Given the description of an element on the screen output the (x, y) to click on. 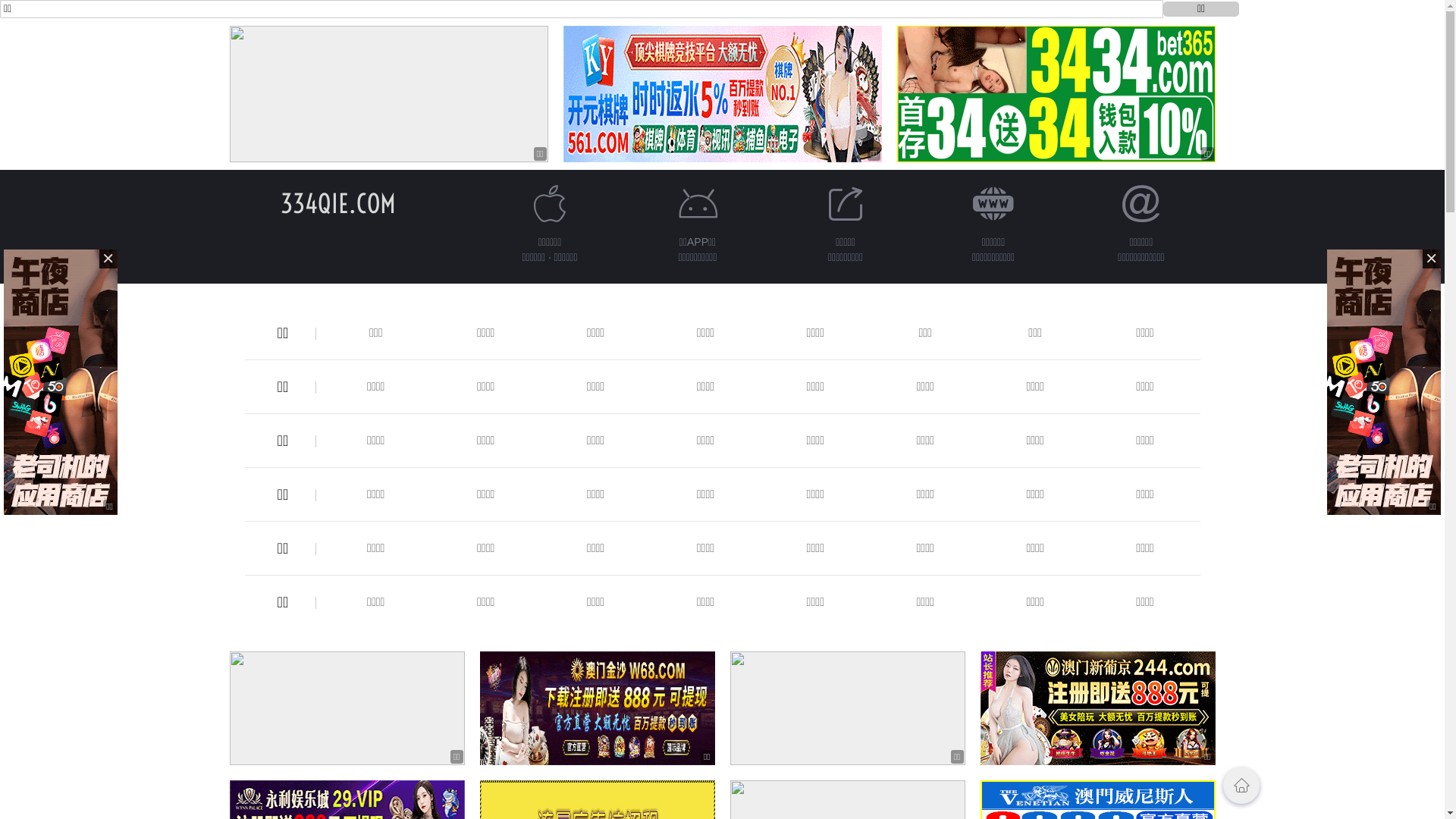
334QIE.COM Element type: text (337, 203)
